Given the description of an element on the screen output the (x, y) to click on. 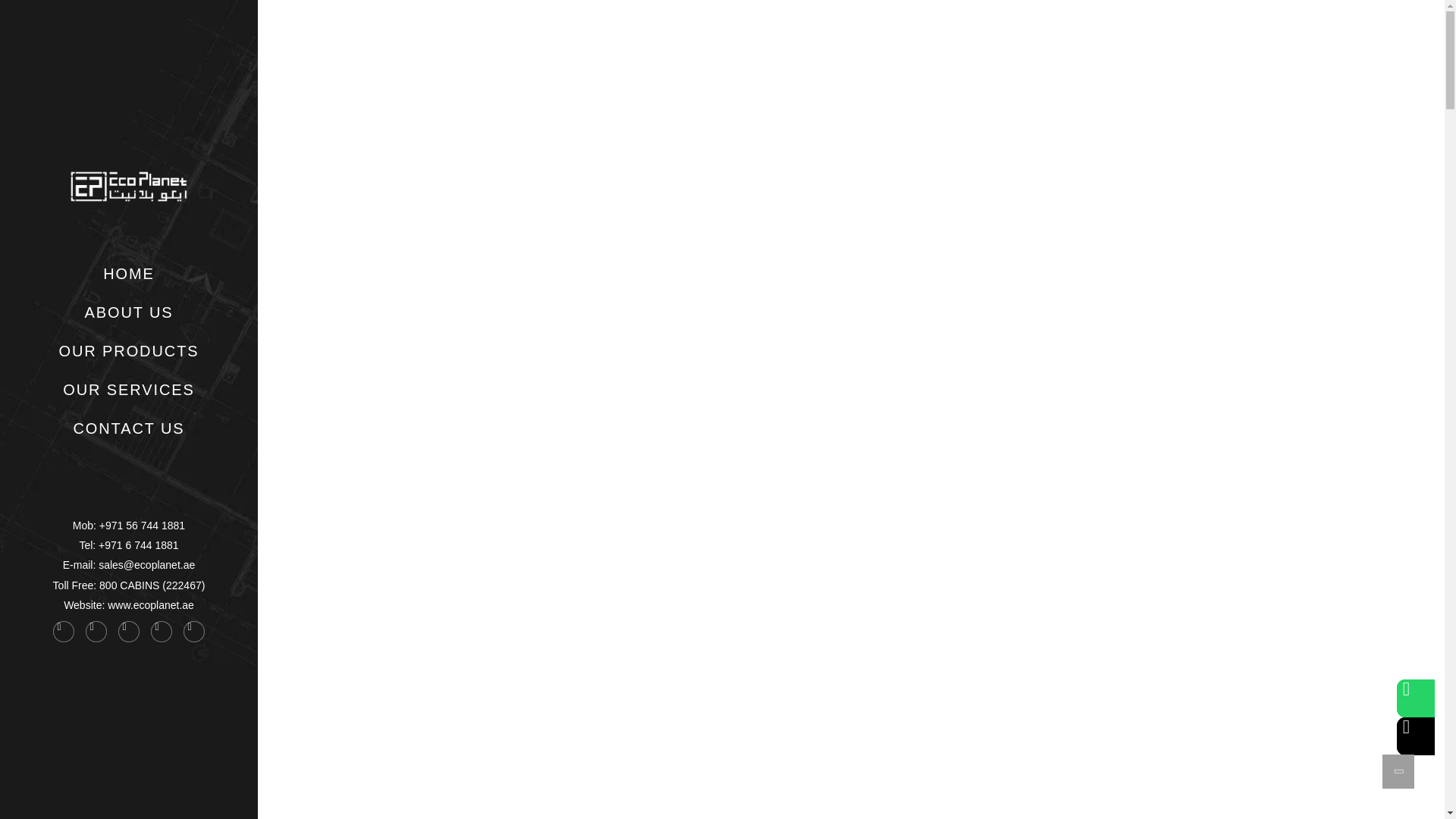
SCROLL DOWN (850, 367)
INSTAGRAM (291, 544)
CONTACT US (128, 428)
HOME (128, 273)
OUR PRODUCTS (128, 350)
TWITTER (291, 361)
ABOUT US (128, 312)
OUR SERVICES (128, 389)
SCROLL DOWN (850, 367)
FACEBOOK (291, 447)
PINTEREST (291, 272)
Website: www.ecoplanet.ae (128, 605)
